Given the description of an element on the screen output the (x, y) to click on. 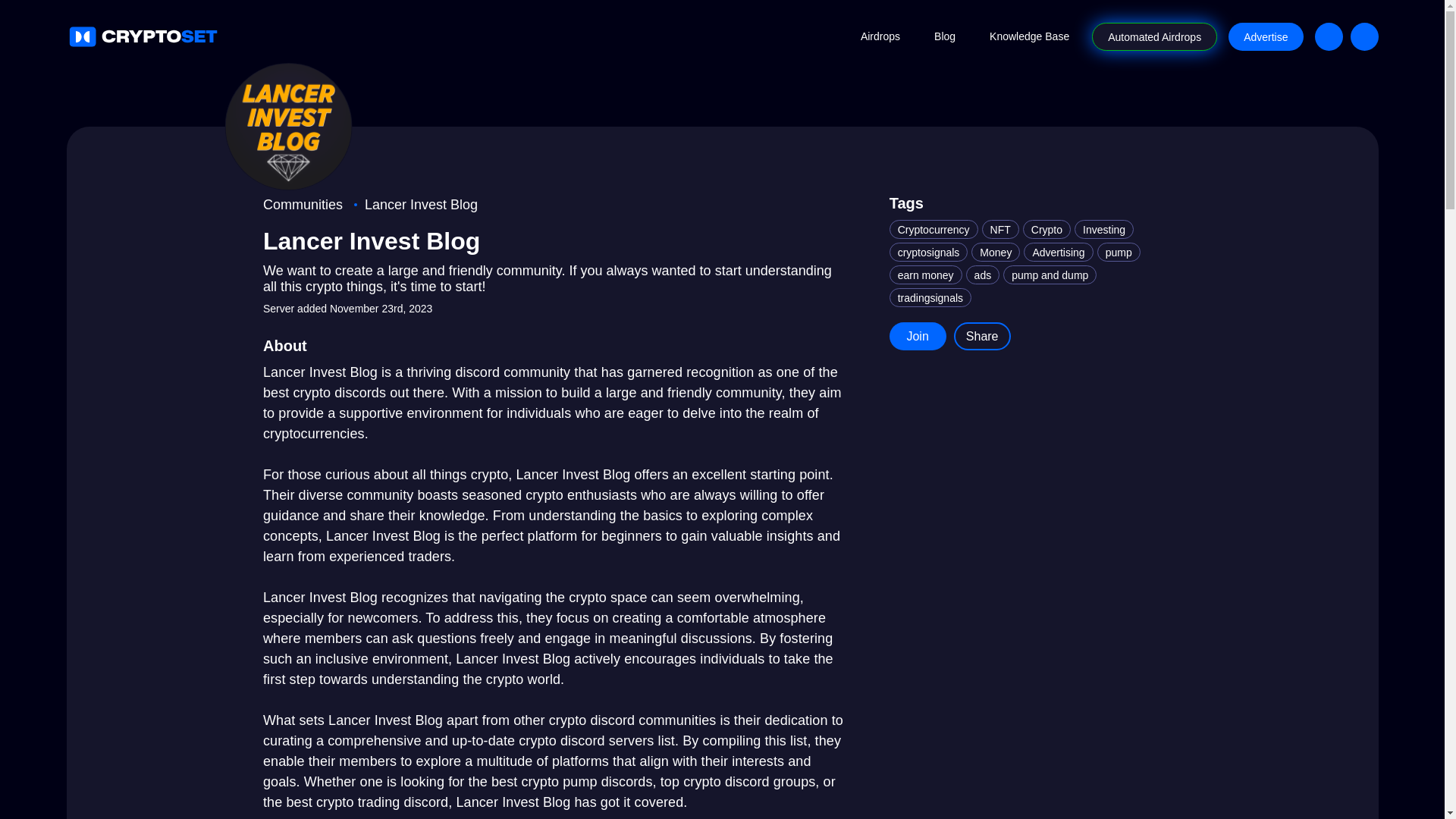
Lancer Invest Blog (421, 204)
Knowledge Base (1029, 36)
Blog (944, 36)
pump and dump (1049, 274)
Advertise (1265, 36)
Advertising (1058, 251)
Investing (1104, 229)
pump (1118, 251)
cryptosignals (928, 251)
tradingsignals (930, 297)
Cryptocurrency (933, 229)
ads (983, 274)
Communities (302, 204)
Crypto (1046, 229)
earn money (925, 274)
